Given the description of an element on the screen output the (x, y) to click on. 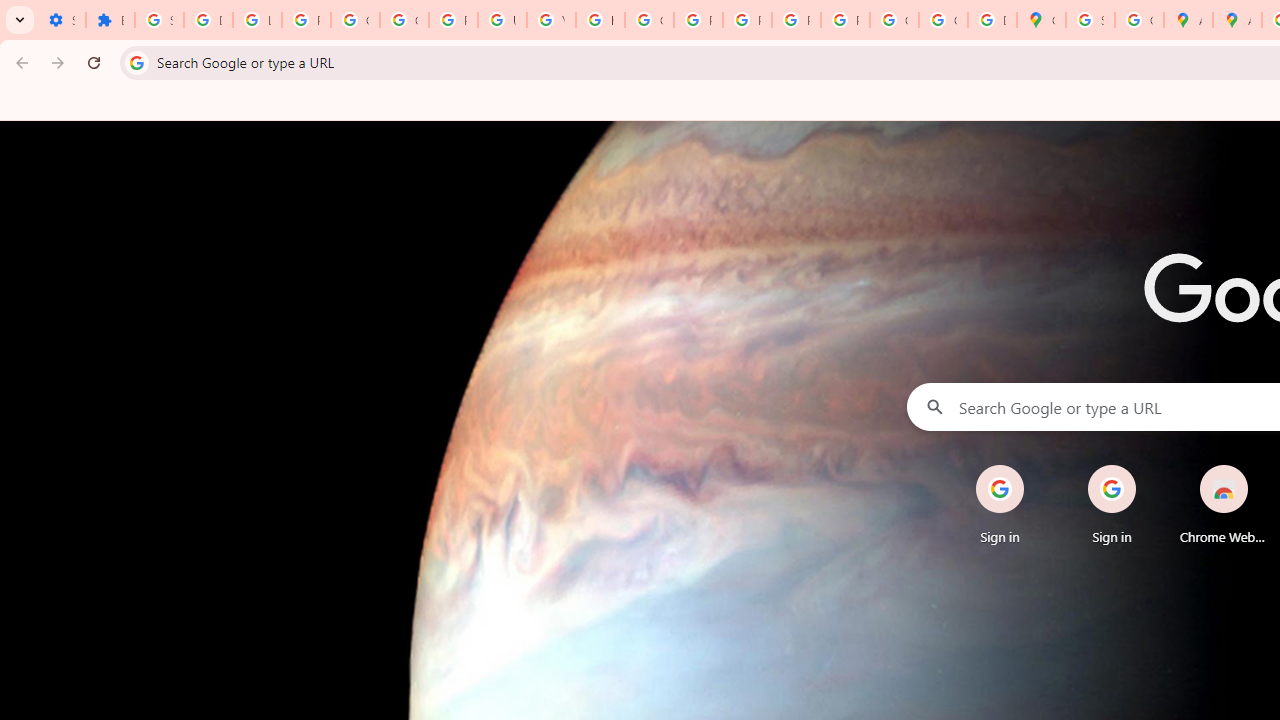
Sign in - Google Accounts (159, 20)
YouTube (551, 20)
Chrome Web Store (1223, 504)
Google Maps (1041, 20)
https://scholar.google.com/ (600, 20)
Privacy Help Center - Policies Help (698, 20)
Settings - On startup (61, 20)
